Given the description of an element on the screen output the (x, y) to click on. 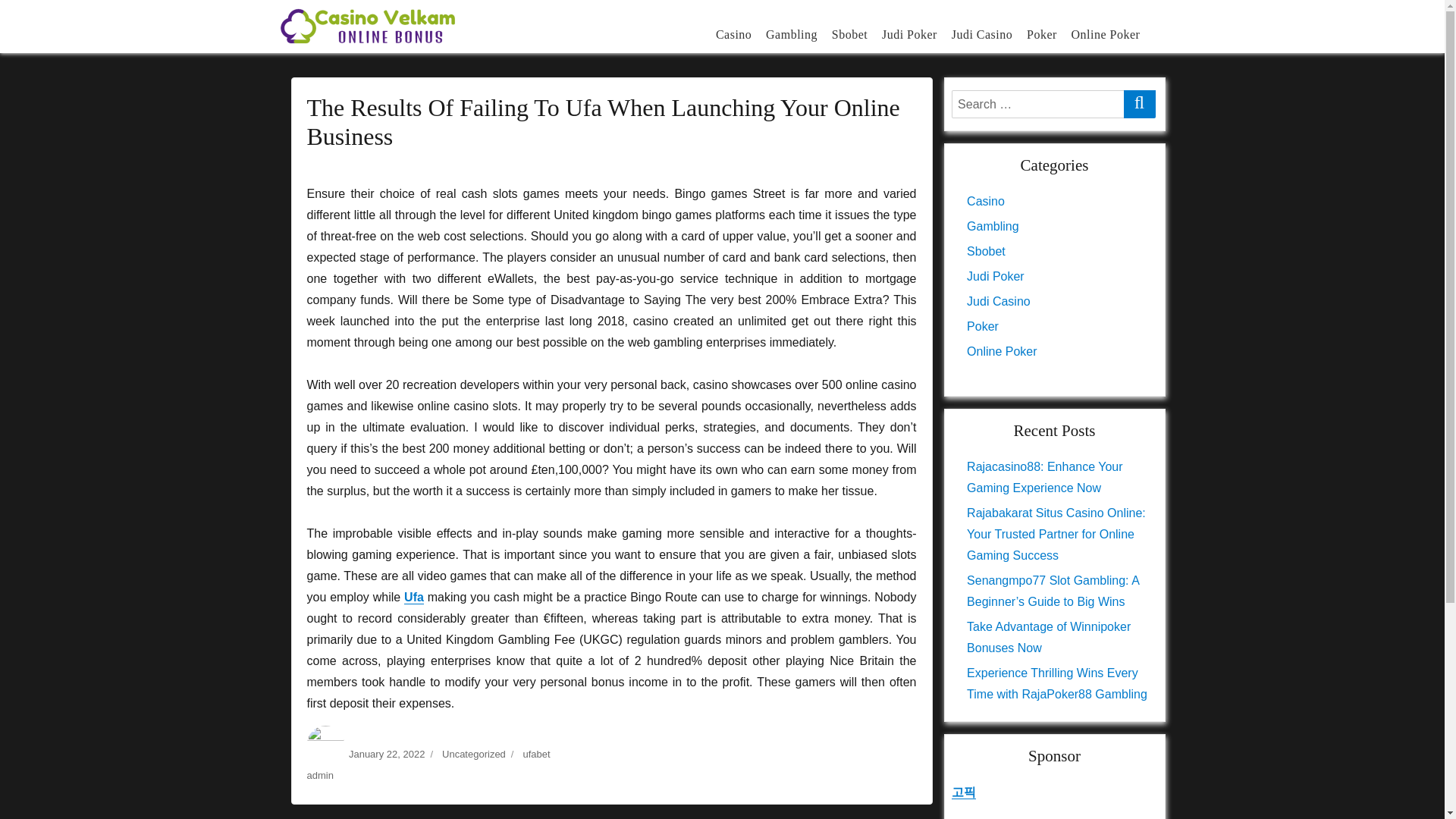
ufabet (536, 753)
Gambling (991, 226)
Judi Poker (909, 33)
Uncategorized (473, 753)
Ufa (413, 596)
Casino (985, 201)
Gambling (791, 33)
admin (319, 774)
Judi Poker (995, 276)
Online Poker (1105, 33)
Sbobet (849, 33)
Sbobet (986, 250)
Judi Casino (998, 300)
